Given the description of an element on the screen output the (x, y) to click on. 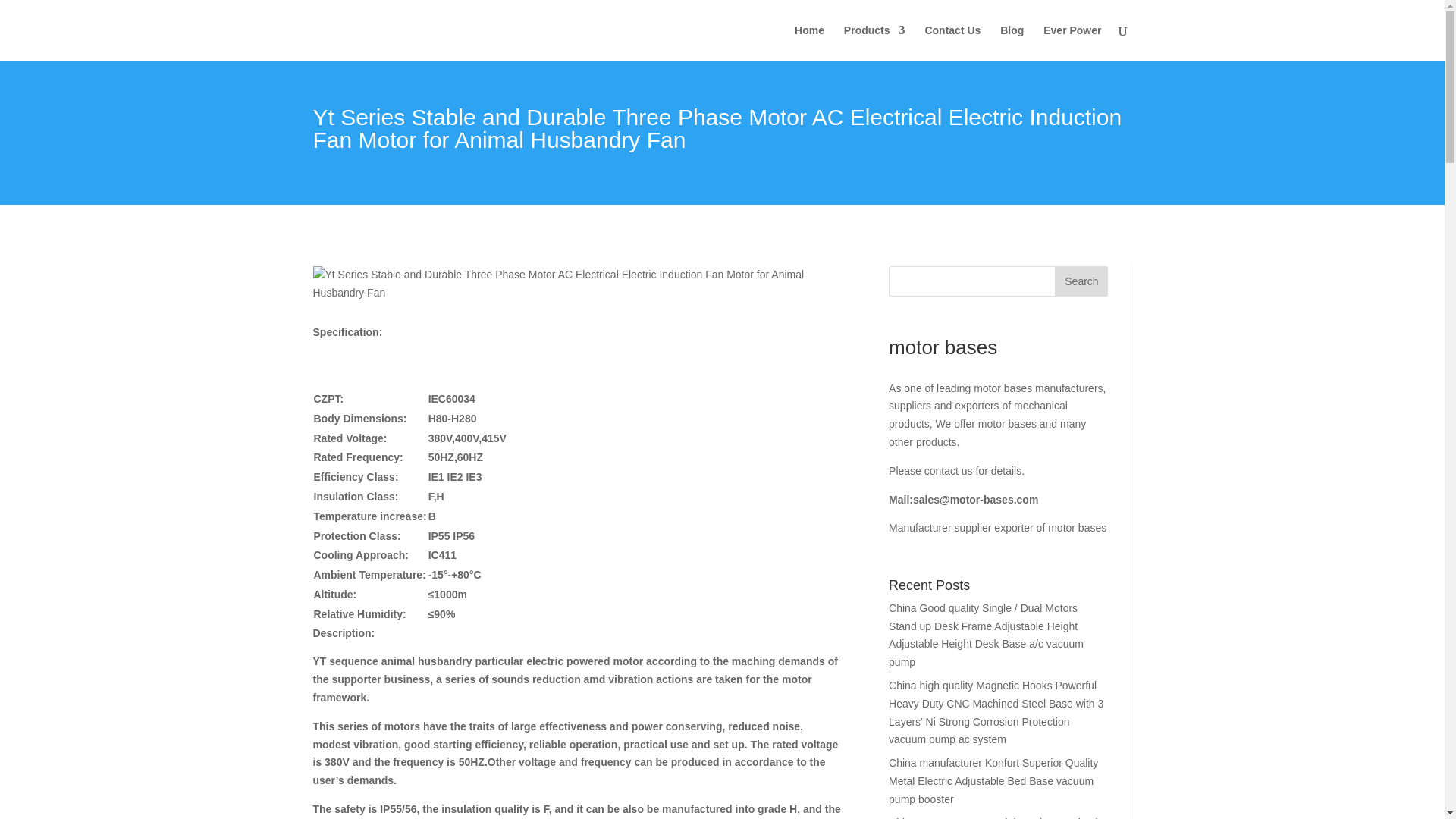
Ever Power (1071, 42)
Products (874, 42)
Search (1081, 281)
Contact Us (951, 42)
Search (1081, 281)
